Given the description of an element on the screen output the (x, y) to click on. 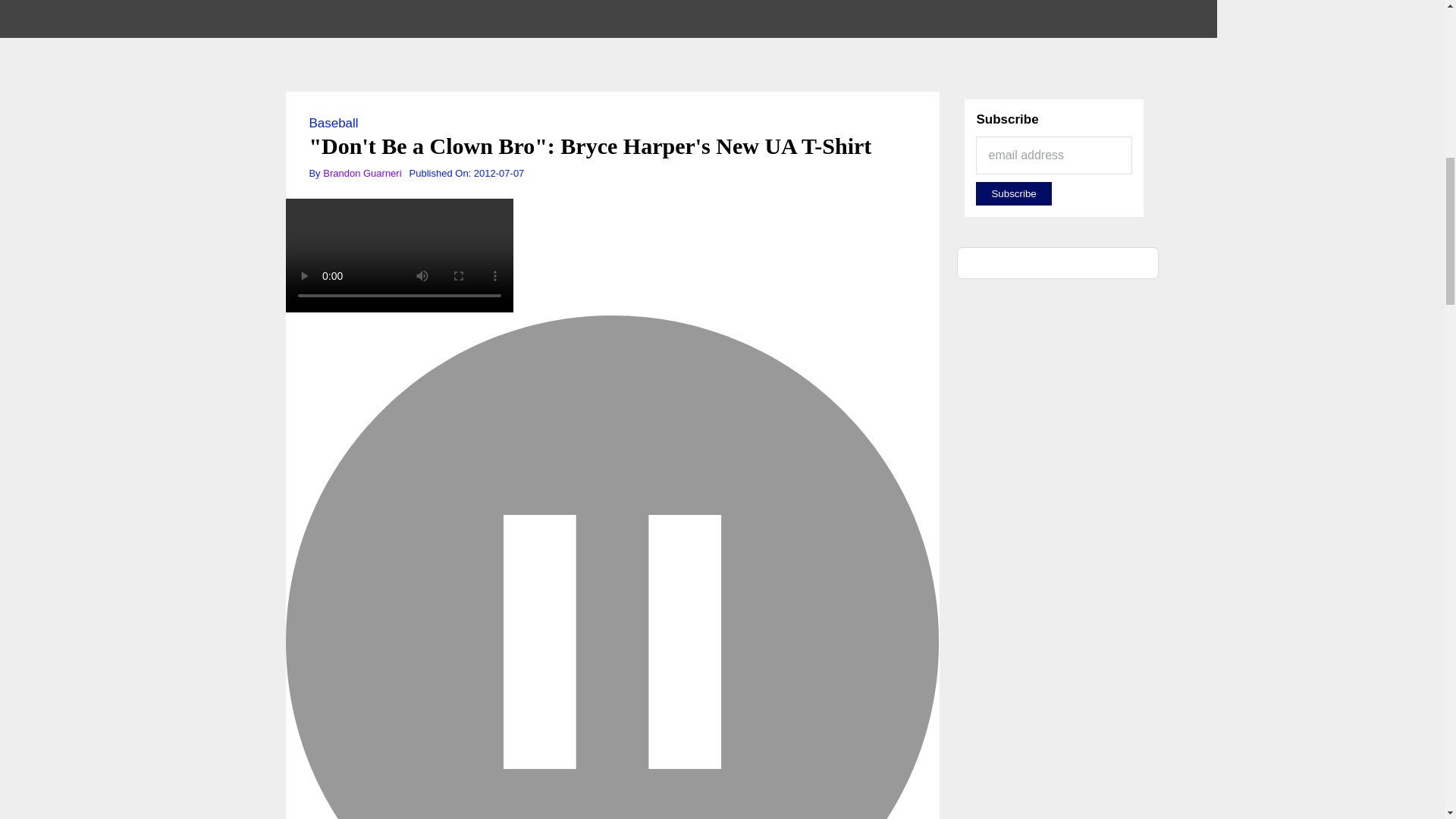
Baseball (333, 123)
Subscribe (1013, 193)
Posts by Brandon Guarneri (362, 173)
